Given the description of an element on the screen output the (x, y) to click on. 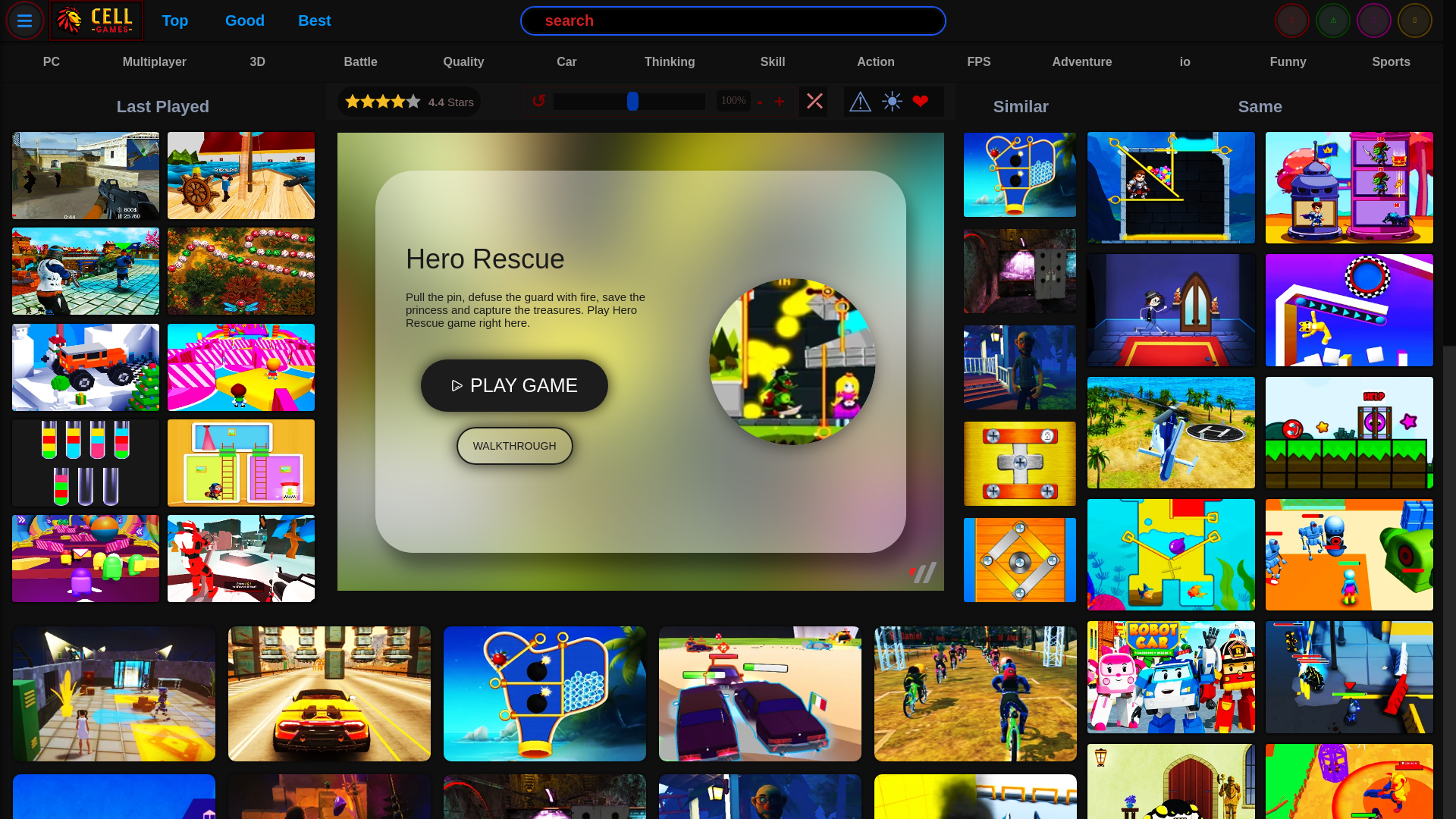
Good (244, 20)
100 (628, 101)
Fullscreen (813, 101)
Best (314, 20)
reset size (540, 101)
increase size (781, 101)
Turn off the lights (890, 101)
Report the error, let's fix it. (860, 101)
Top (174, 20)
search (733, 20)
